Given the description of an element on the screen output the (x, y) to click on. 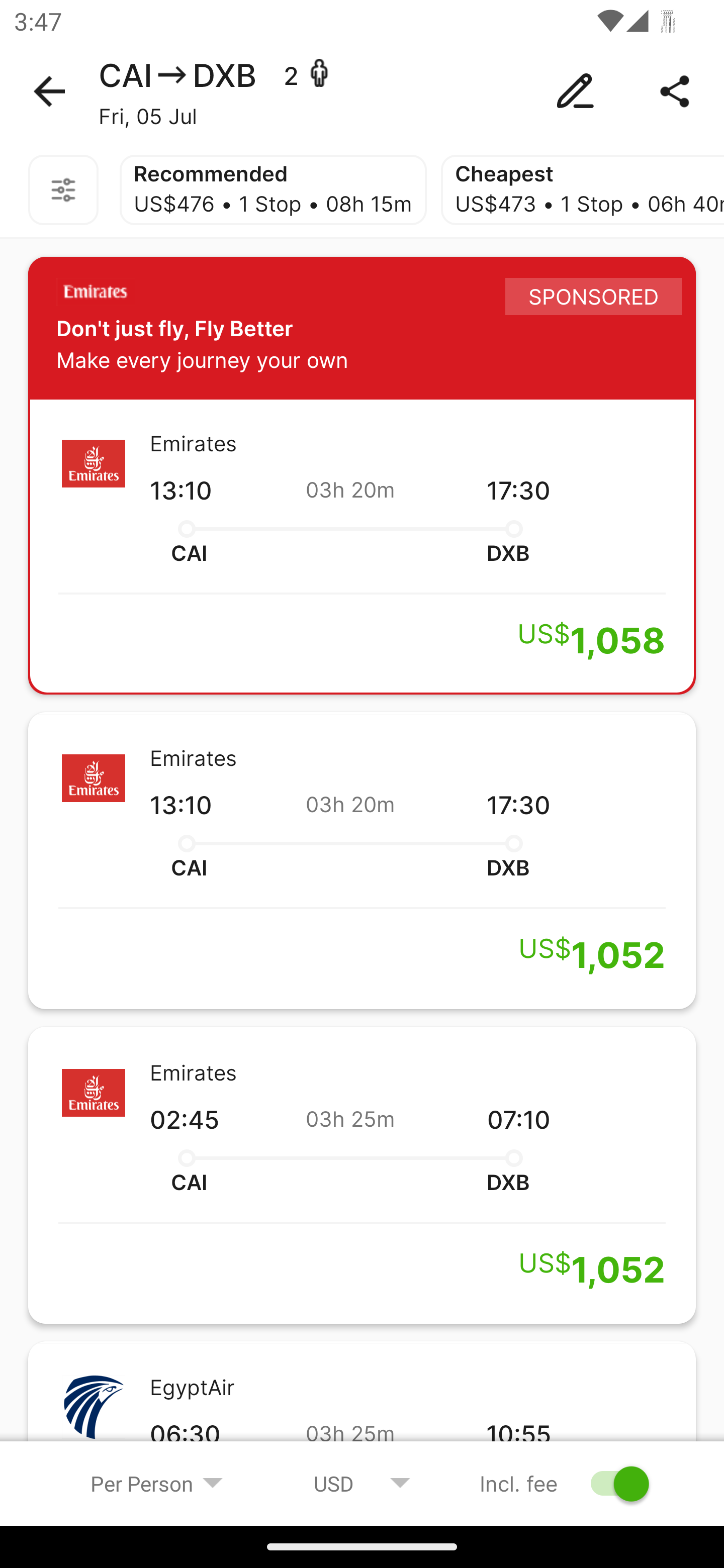
CAI DXB   2 - Fri, 05 Jul (361, 91)
Recommended  US$476 • 1 Stop • 08h 15m (273, 190)
Cheapest US$473 • 1 Stop • 06h 40m (582, 190)
Emirates 13:10 03h 20m 17:30 CAI DXB (361, 860)
Emirates 02:45 03h 25m 07:10 CAI DXB (361, 1175)
Per Person (156, 1482)
USD (361, 1482)
